Given the description of an element on the screen output the (x, y) to click on. 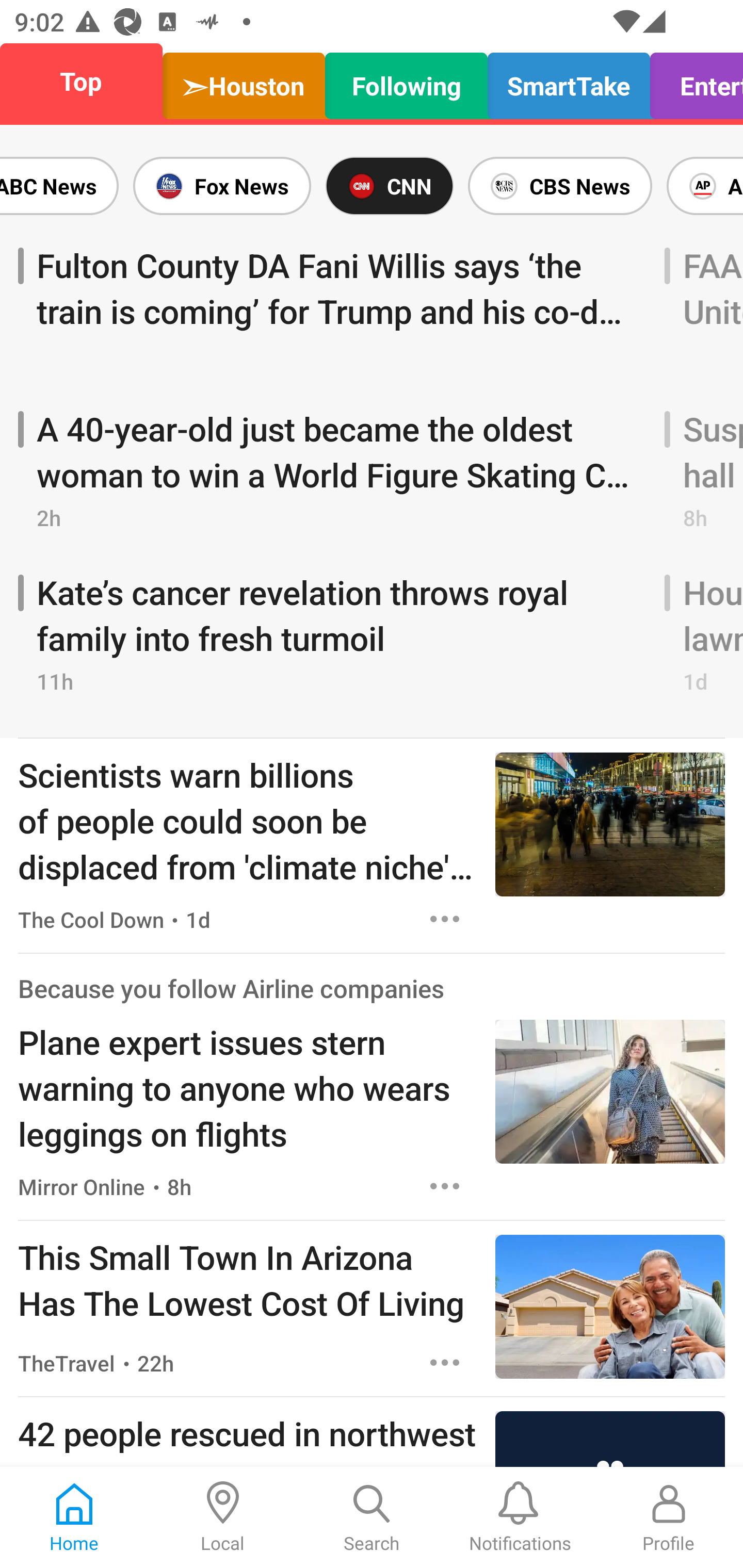
Top (86, 81)
➣Houston (243, 81)
Following (406, 81)
SmartTake (569, 81)
Entertain (690, 81)
ABC News (62, 185)
Fox News (221, 185)
CBS News (559, 185)
Options (444, 918)
Because you follow Airline companies (230, 987)
Options (444, 1186)
Options (444, 1362)
Local (222, 1517)
Search (371, 1517)
Notifications (519, 1517)
Profile (668, 1517)
